Given the description of an element on the screen output the (x, y) to click on. 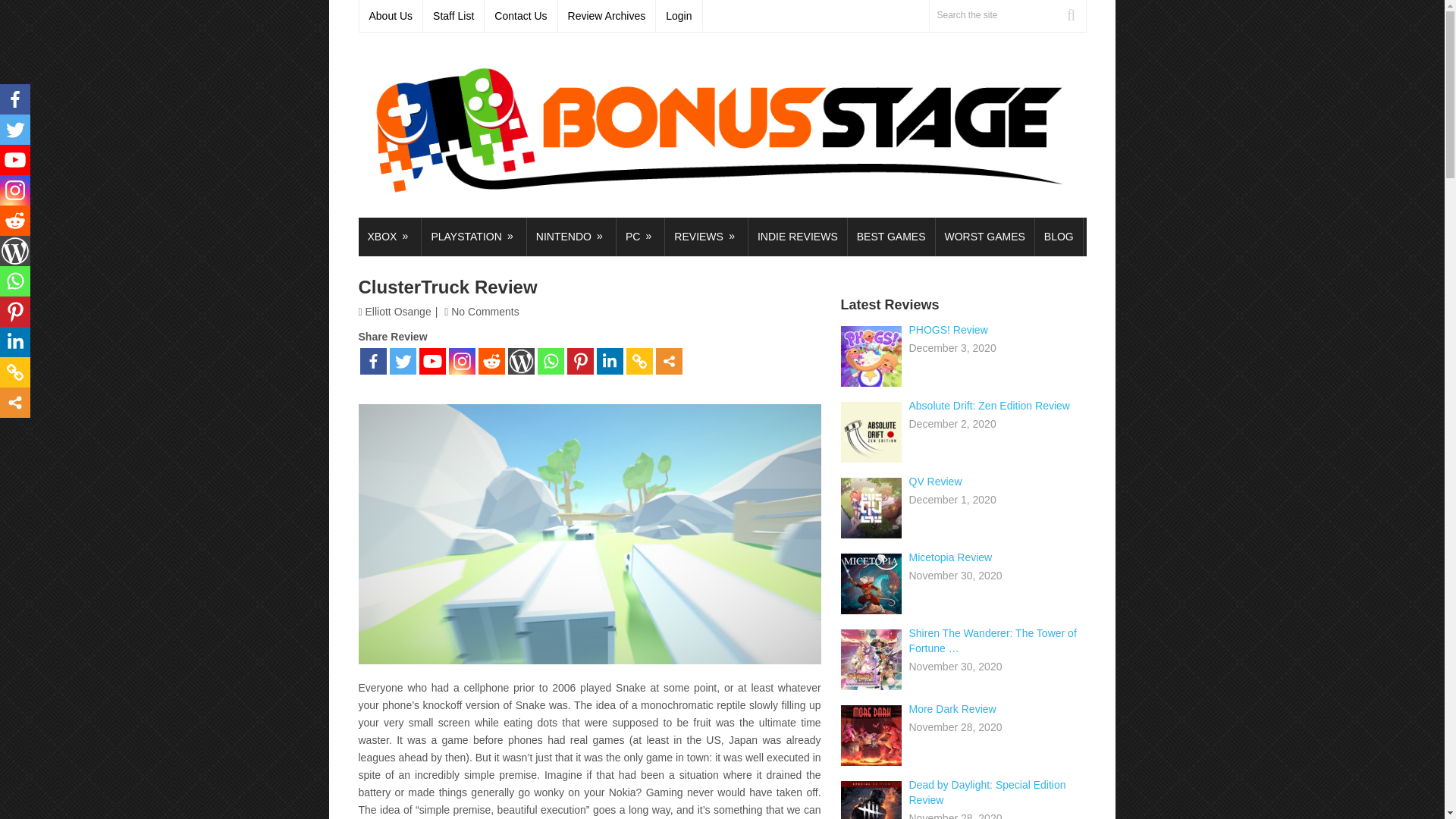
About Us (391, 15)
NINTENDO (571, 236)
Login (678, 15)
PC (639, 236)
Contact Us (520, 15)
Review Archives (606, 15)
PLAYSTATION (473, 236)
XBOX (389, 236)
REVIEWS (706, 236)
Staff List (453, 15)
